Given the description of an element on the screen output the (x, y) to click on. 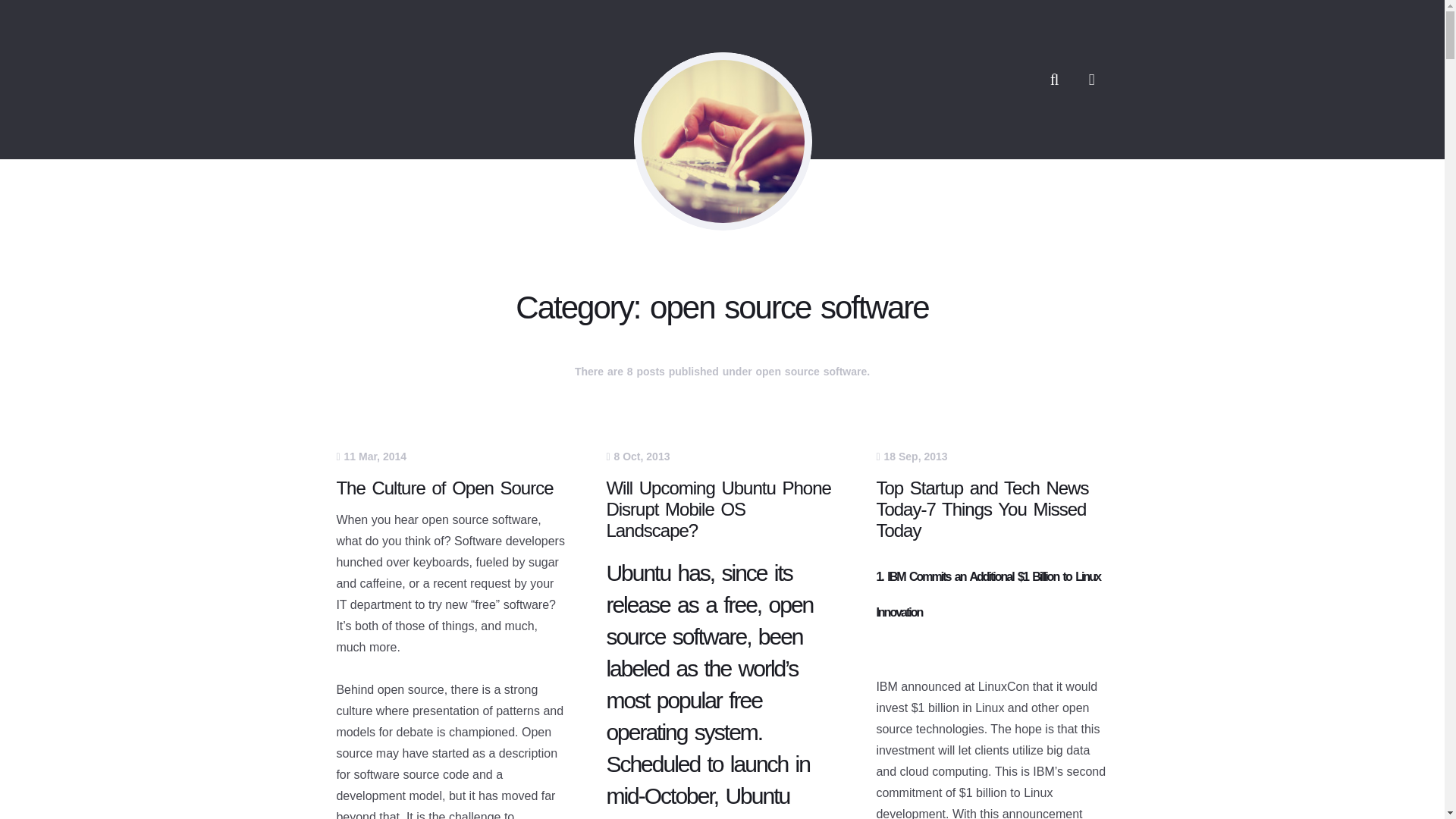
18 Sep, 2013 (911, 456)
Top Startup and Tech News Today-7 Things You Missed Today (981, 508)
Will Upcoming Ubuntu Phone Disrupt Mobile OS Landscape? (718, 508)
The Culture of Open Source (444, 487)
11 Mar, 2014 (371, 456)
8 Oct, 2013 (637, 456)
